Given the description of an element on the screen output the (x, y) to click on. 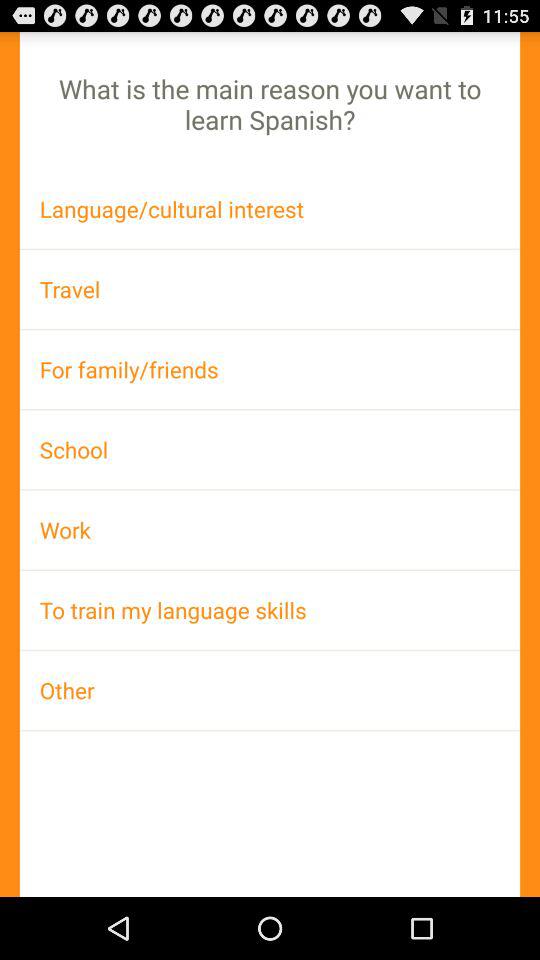
click icon above school (269, 369)
